Given the description of an element on the screen output the (x, y) to click on. 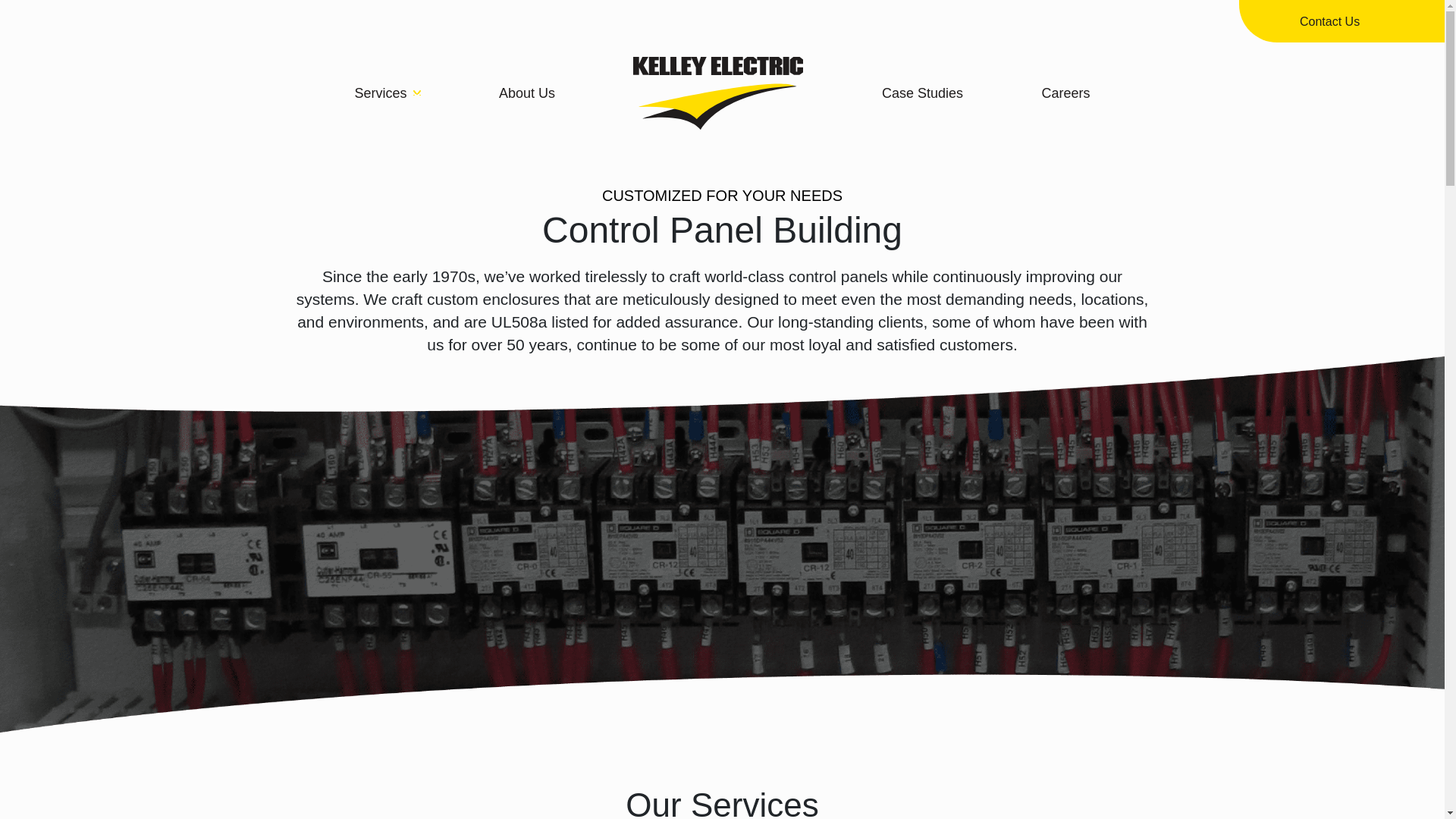
About Us (526, 93)
Case Studies (922, 93)
Careers (1065, 93)
